Given the description of an element on the screen output the (x, y) to click on. 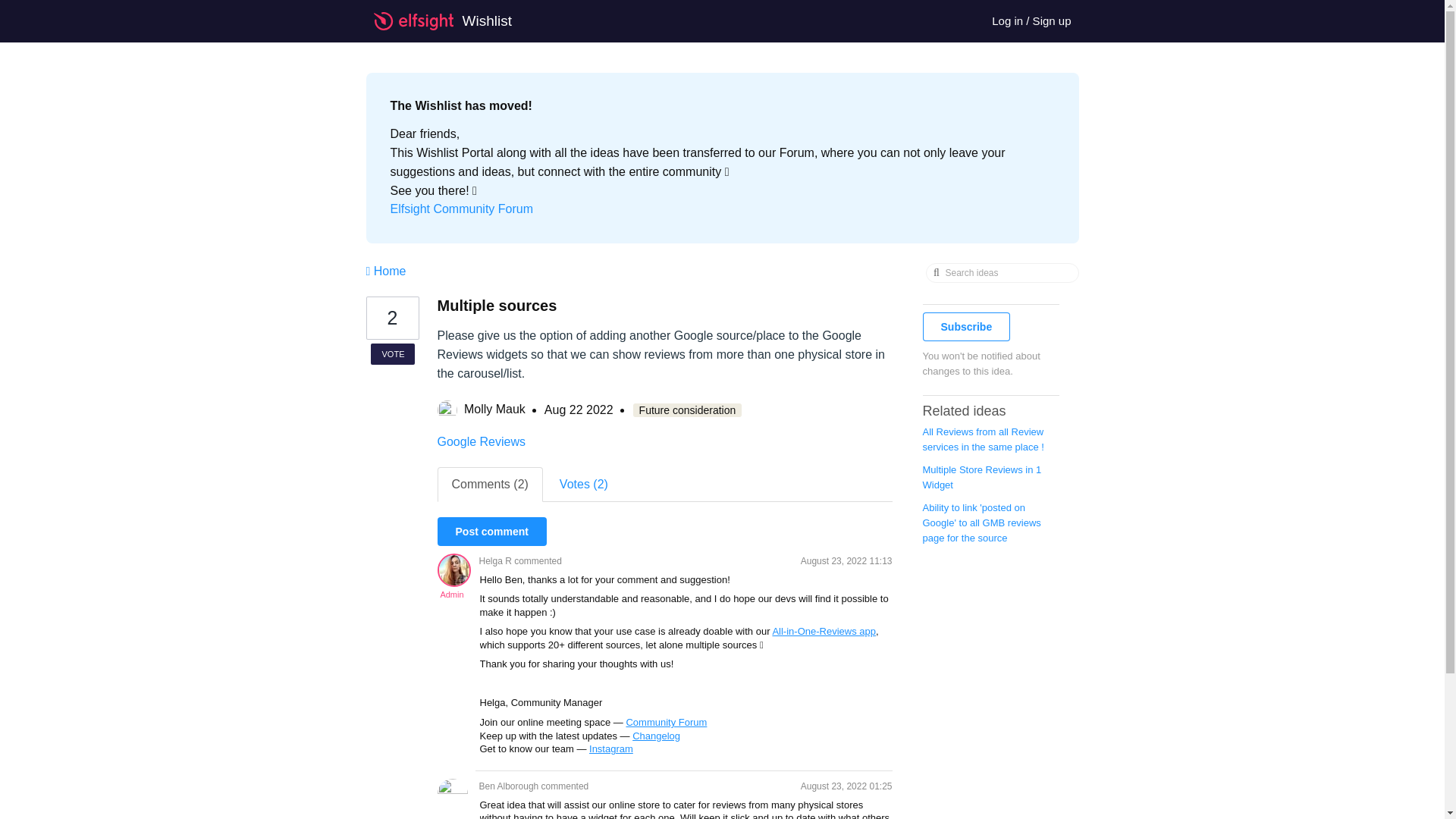
Future consideration (687, 409)
Instagram (611, 748)
Changelog (655, 736)
Post comment (491, 531)
Community Forum (666, 722)
All-in-One-Reviews app (823, 631)
Subscribe (965, 326)
Wishlist (450, 21)
Home (385, 270)
